Given the description of an element on the screen output the (x, y) to click on. 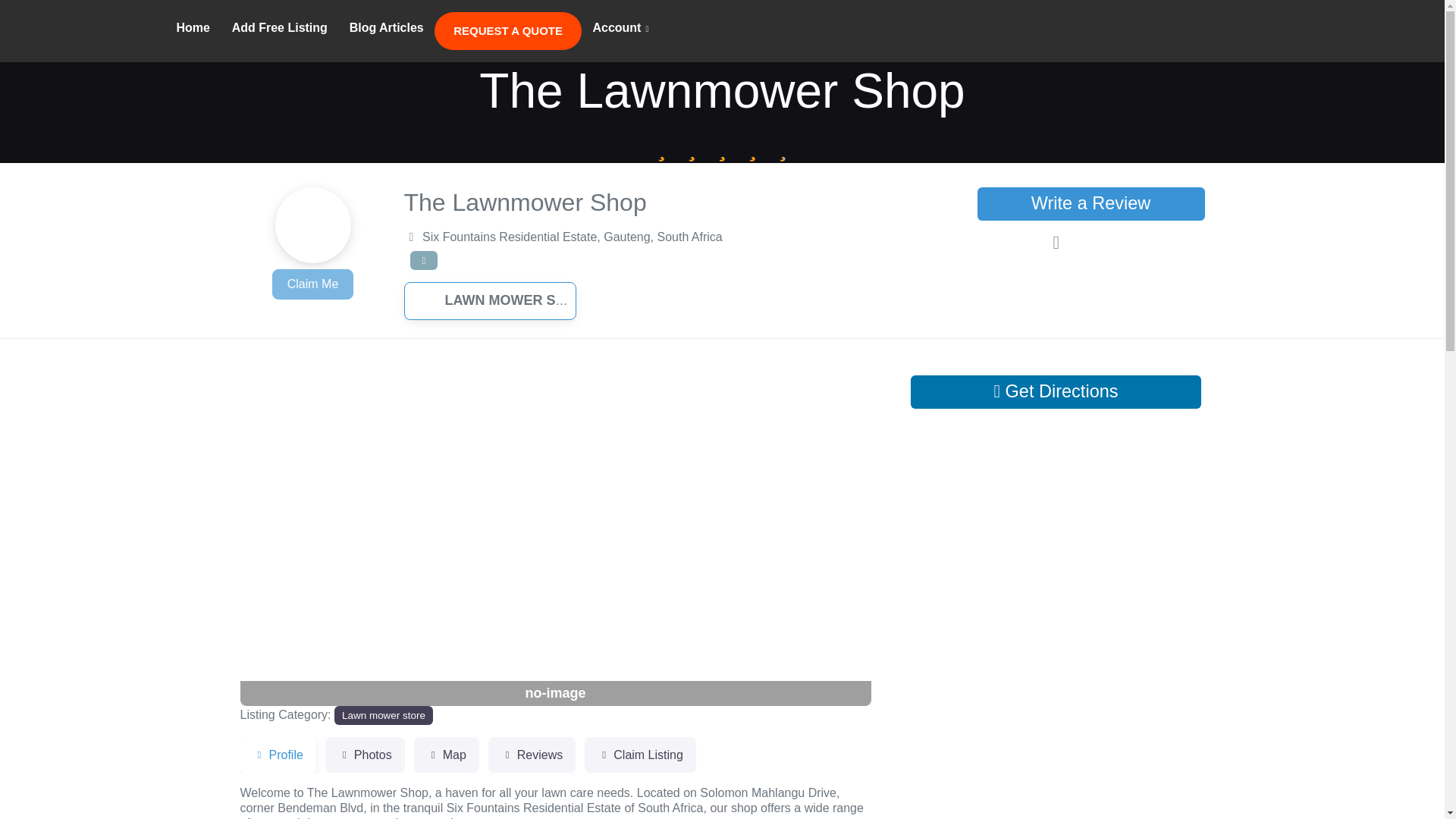
Claim Listing (640, 755)
Add to Favorites (1090, 243)
Inverters (70, 29)
Home (193, 28)
Blog Articles (385, 28)
Account (619, 28)
Get Directions (1055, 391)
Claim Listing (640, 755)
Photos (364, 755)
